Given the description of an element on the screen output the (x, y) to click on. 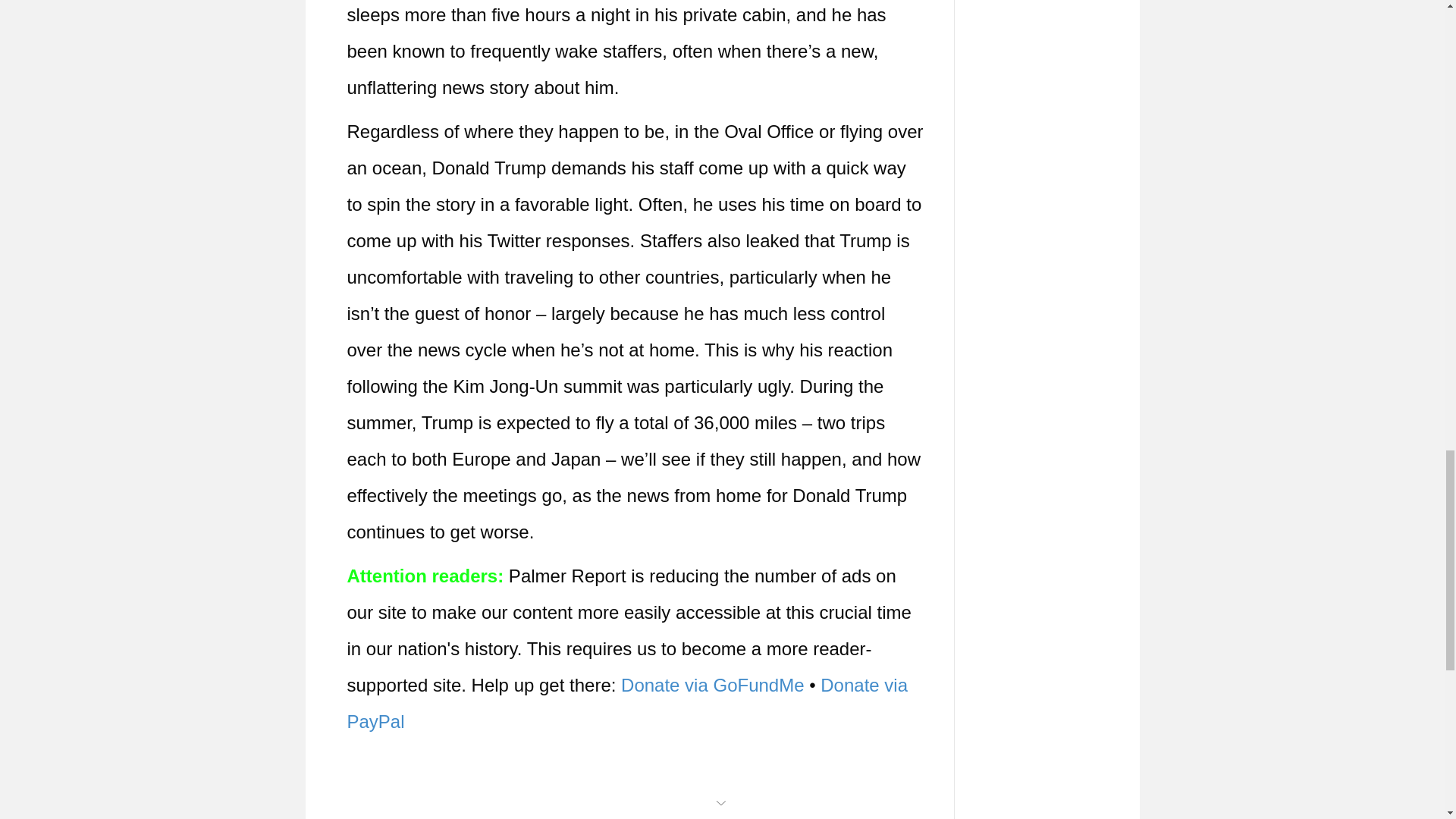
Donate via PayPal (627, 703)
Donate via GoFundMe (712, 684)
